Given the description of an element on the screen output the (x, y) to click on. 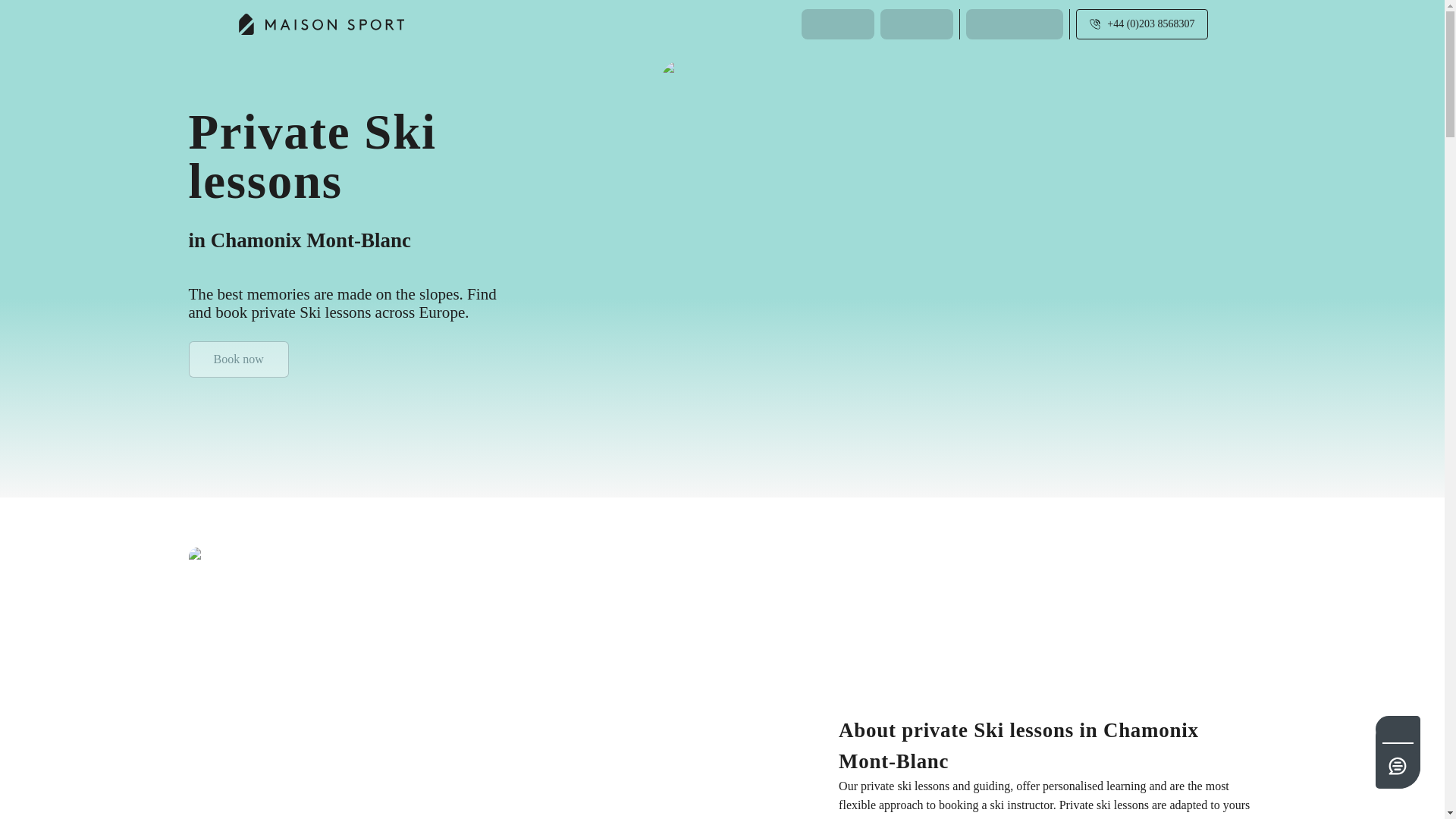
Book now (237, 359)
